Given the description of an element on the screen output the (x, y) to click on. 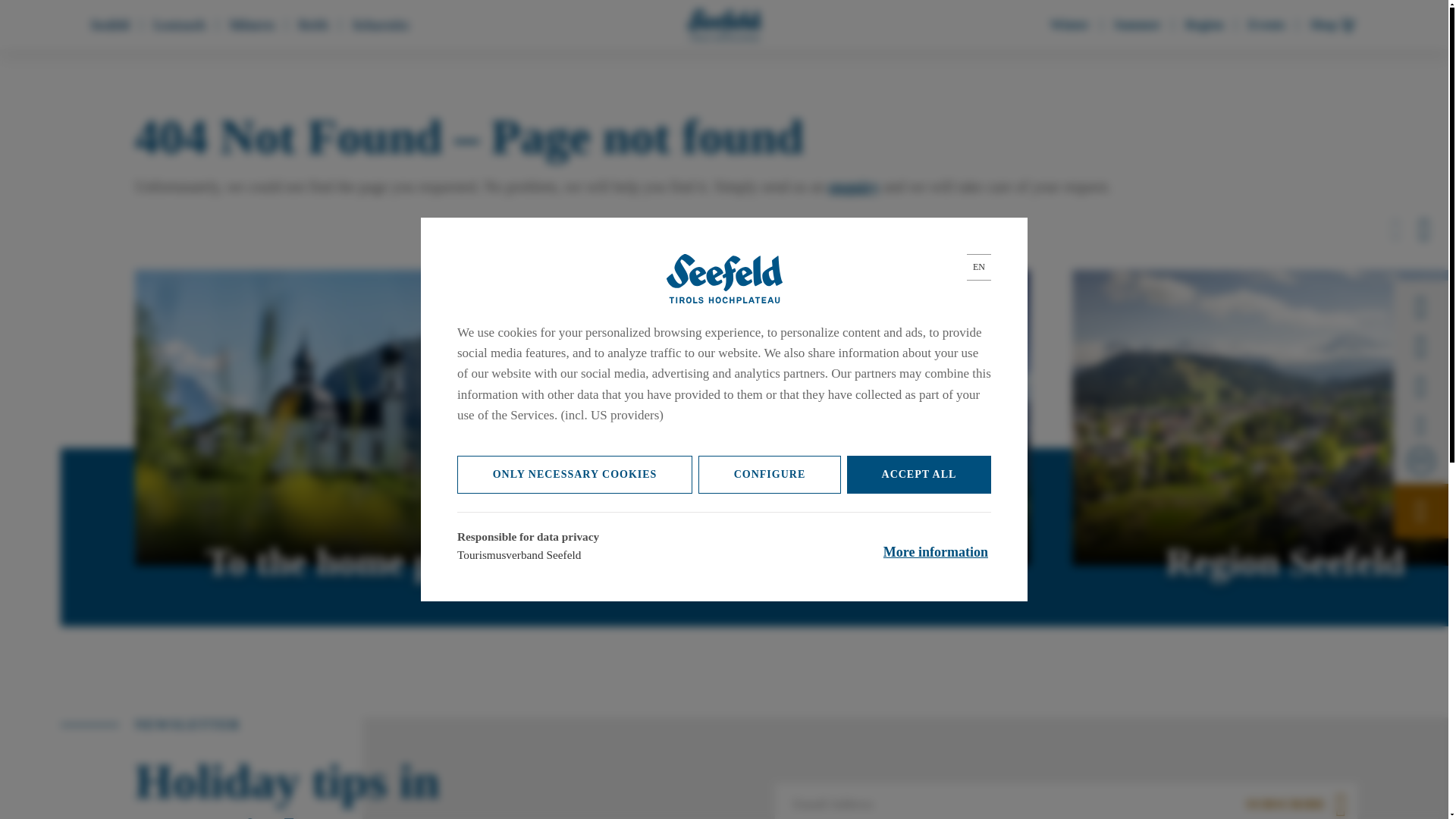
enquiry (853, 186)
To the home page (347, 417)
Winter (1069, 24)
ACCEPT ALL (919, 474)
Events (1266, 24)
Summer (1136, 24)
SUBSCRIBE (1296, 800)
enquiry (853, 186)
CONFIGURE (769, 474)
ONLY NECESSARY COOKIES (575, 474)
